Given the description of an element on the screen output the (x, y) to click on. 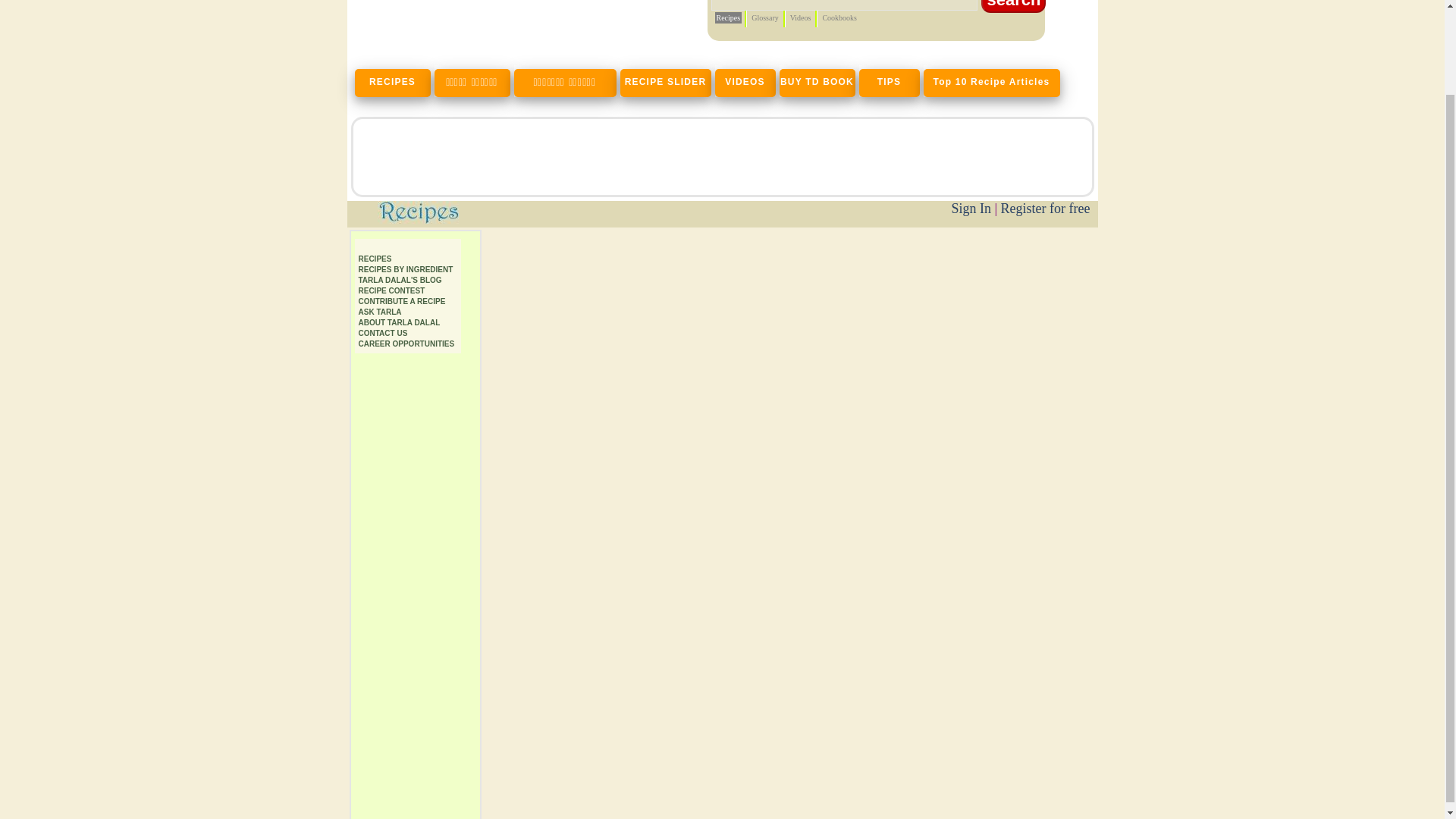
Got a question? Ask us! (379, 311)
Participate in our Recipe Contest (391, 290)
Sign in to your existing membership account (970, 208)
Watch videos of your favorite Tarla Dalal recipes (746, 81)
View exciting themed recipe sliders (667, 81)
search (1013, 6)
Glossary (764, 17)
Upload your own recipe (401, 301)
View exciting themed recipe sliders (993, 81)
Ingredientwise Recipes (405, 269)
search (1013, 6)
Tarla Dalal Biography (398, 322)
Recipes (374, 258)
View your favorite recipes in Hindi (473, 81)
